Given the description of an element on the screen output the (x, y) to click on. 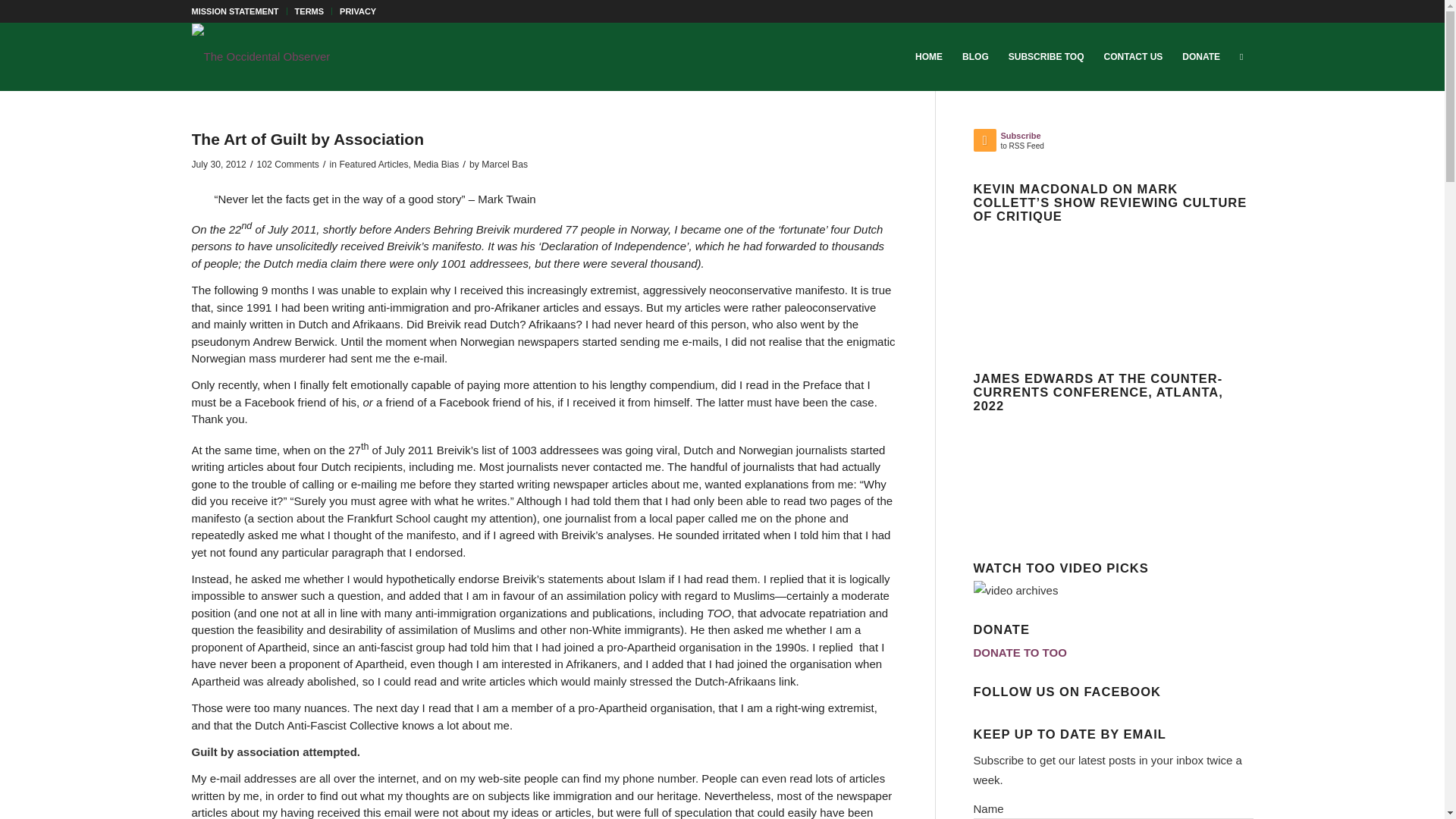
MISSION STATEMENT (234, 11)
CONTACT US (1133, 56)
102 Comments (287, 163)
DONATE TO TOO (1020, 652)
Contact Us (1133, 56)
Media Bias (435, 163)
TERMS (309, 11)
SUBSCRIBE TOQ (1046, 56)
Posts by Marcel Bas (504, 163)
